Given the description of an element on the screen output the (x, y) to click on. 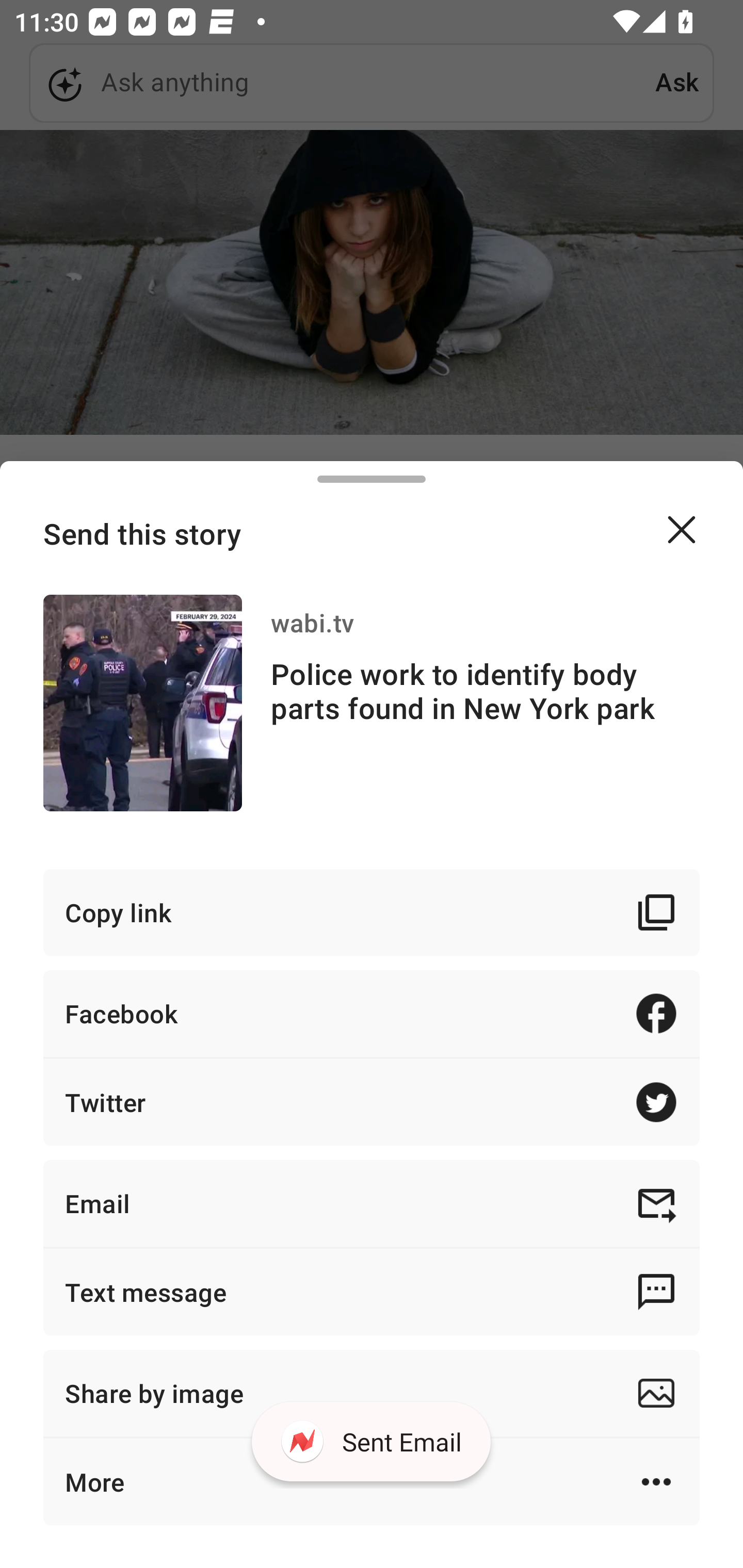
Copy link (371, 912)
Facebook (371, 1013)
Twitter (371, 1102)
Email (371, 1203)
Text message (371, 1291)
Share by image (371, 1393)
More (371, 1481)
